Given the description of an element on the screen output the (x, y) to click on. 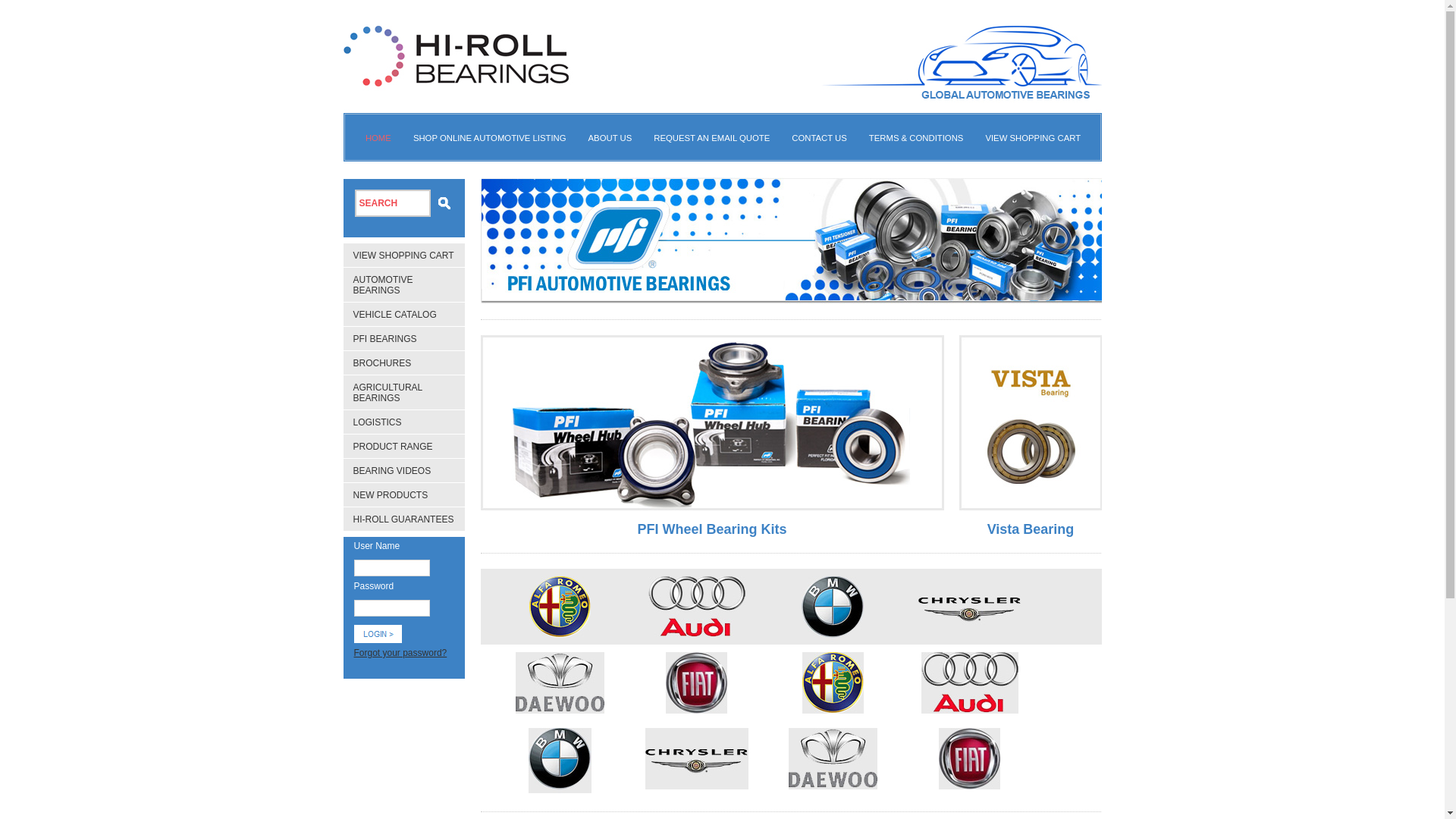
PRODUCT RANGE Element type: text (393, 446)
VIEW SHOPPING CART Element type: text (1032, 137)
BROCHURES Element type: text (382, 362)
VEHICLE CATALOG Element type: text (394, 314)
PFI BEARINGS Element type: text (385, 338)
LOGISTICS Element type: text (377, 422)
AGRICULTURAL BEARINGS Element type: text (387, 392)
SHOP ONLINE AUTOMOTIVE LISTING Element type: text (489, 137)
AUTOMOTIVE BEARINGS Element type: text (383, 284)
HOME Element type: text (378, 137)
HI-ROLL GUARANTEES Element type: text (403, 519)
TERMS & CONDITIONS Element type: text (916, 137)
REQUEST AN EMAIL QUOTE Element type: text (711, 137)
BEARING VIDEOS Element type: text (392, 470)
ABOUT US Element type: text (610, 137)
CONTACT US Element type: text (819, 137)
Forgot your password? Element type: text (399, 652)
SEARCH Element type: text (392, 202)
VIEW SHOPPING CART Element type: text (403, 255)
NEW PRODUCTS Element type: text (390, 494)
